Given the description of an element on the screen output the (x, y) to click on. 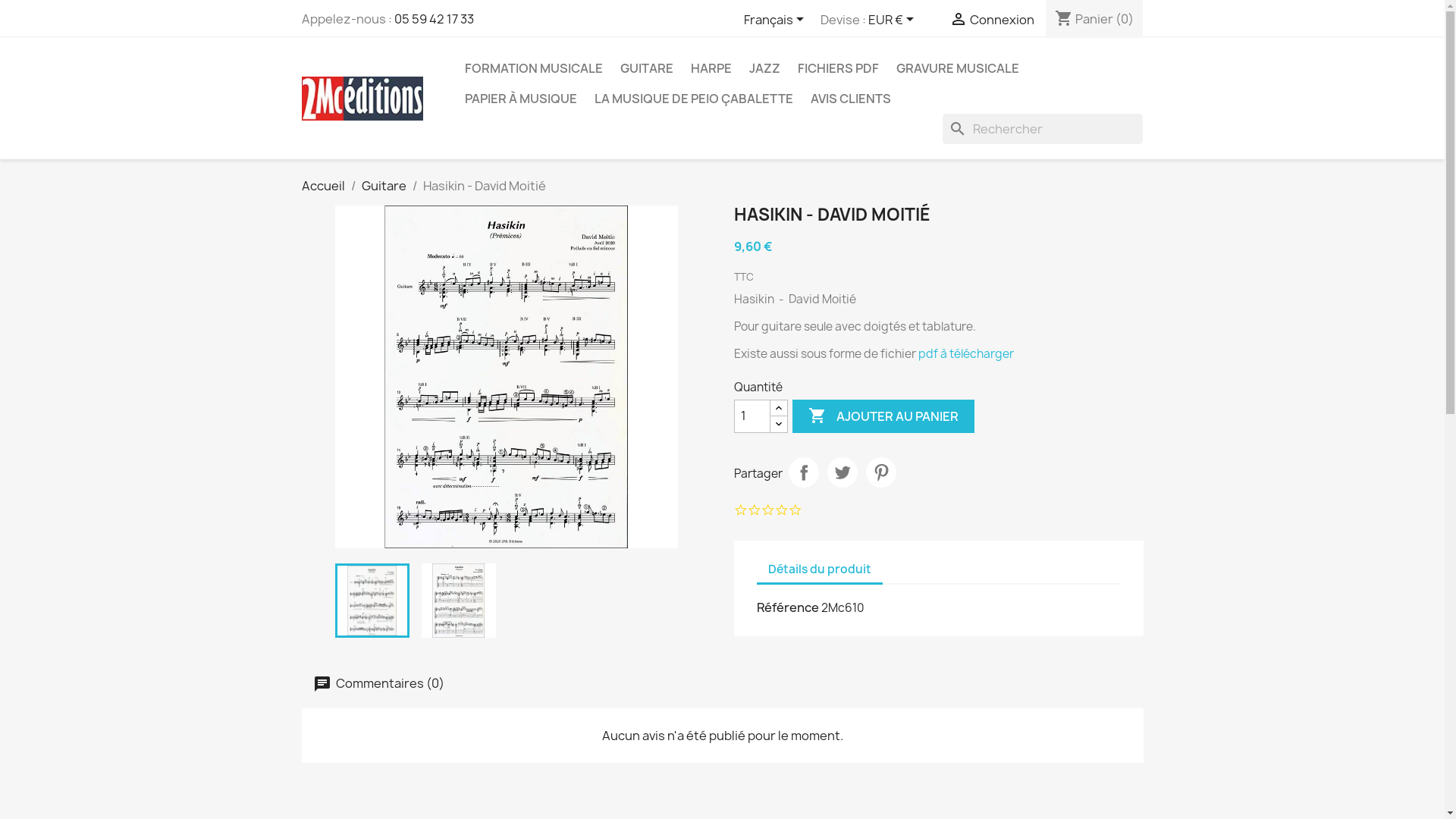
Accueil Element type: text (323, 185)
05 59 42 17 33 Element type: text (433, 18)
GUITARE Element type: text (646, 68)
JAZZ Element type: text (764, 68)
HARPE Element type: text (710, 68)
Guitare Element type: text (382, 185)
AVIS CLIENTS Element type: text (849, 98)
FORMATION MUSICALE Element type: text (532, 68)
Pinterest Element type: text (881, 472)
Tweet Element type: text (841, 472)
FICHIERS PDF Element type: text (838, 68)
GRAVURE MUSICALE Element type: text (957, 68)
Partager Element type: text (803, 472)
